Given the description of an element on the screen output the (x, y) to click on. 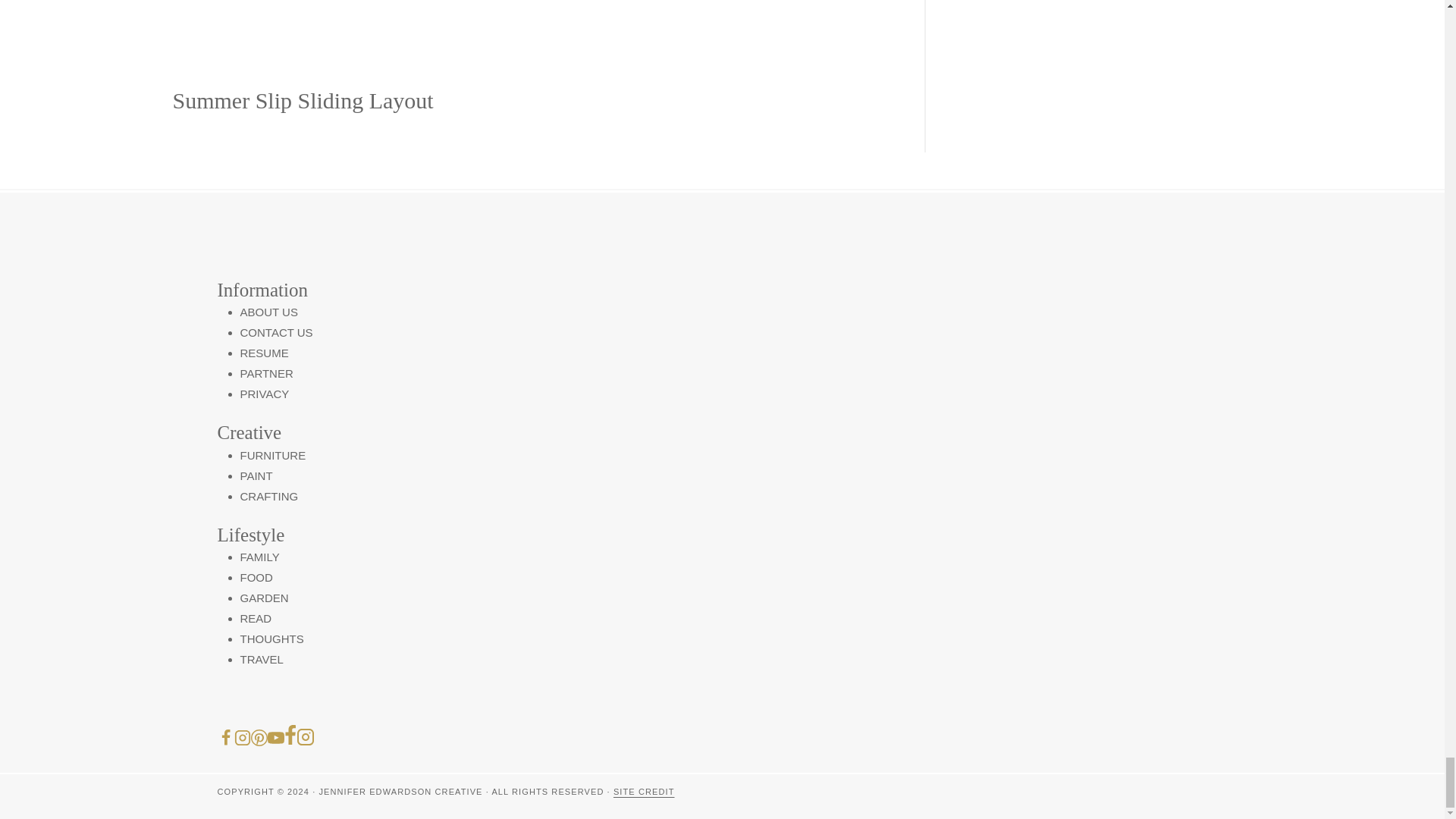
Instagram (304, 737)
